Given the description of an element on the screen output the (x, y) to click on. 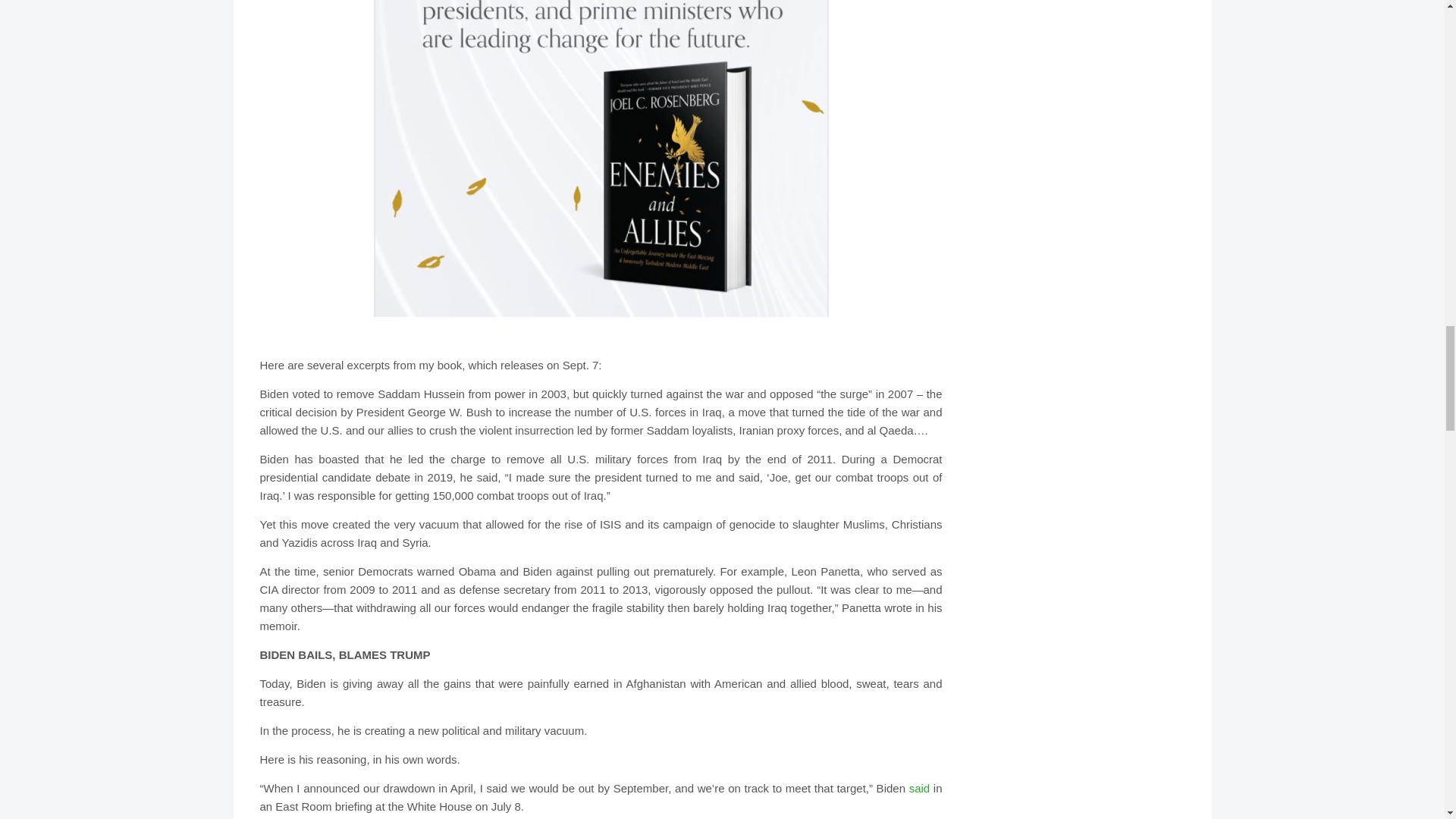
said (919, 788)
